Given the description of an element on the screen output the (x, y) to click on. 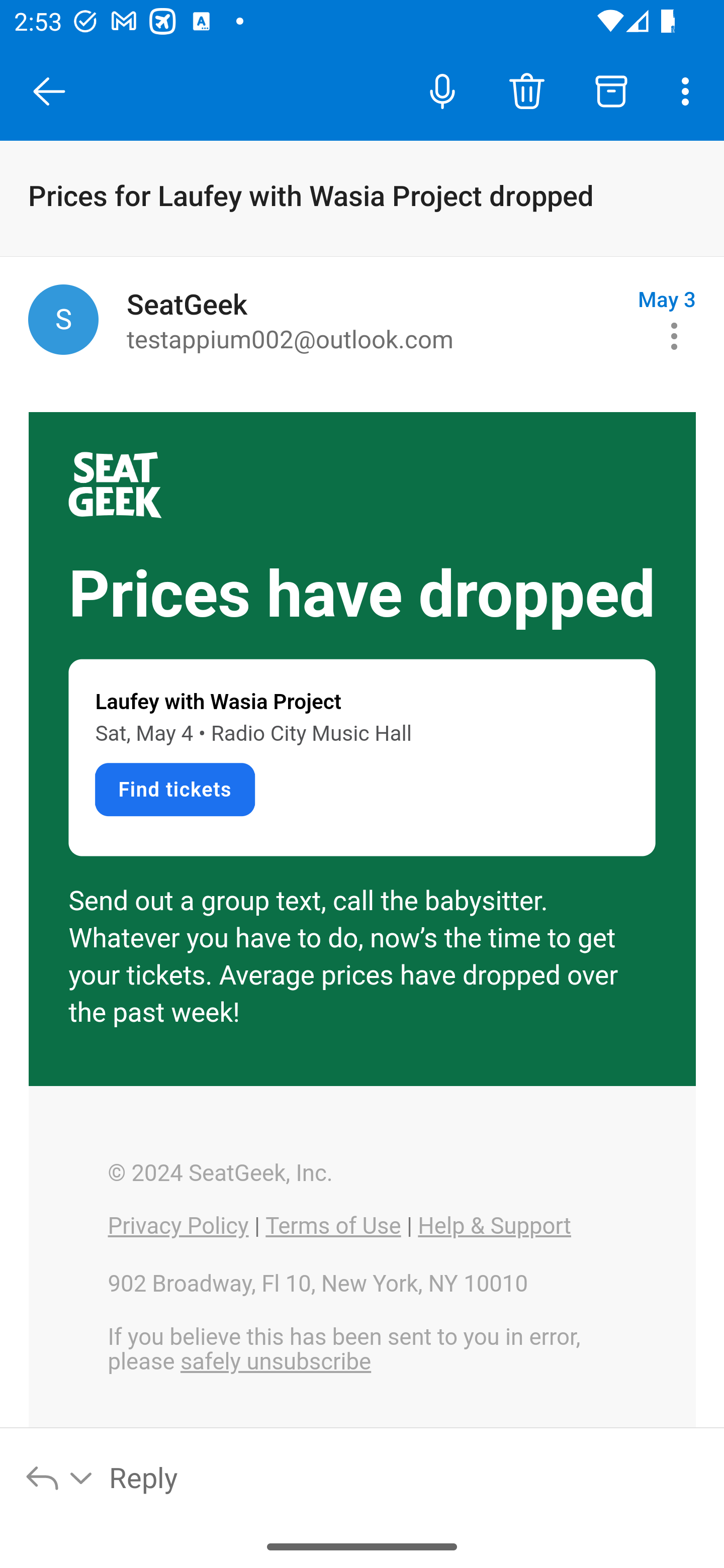
Close (49, 91)
Delete (526, 90)
Archive (611, 90)
More options (688, 90)
SeatGeek, events@seatgeek.com (63, 318)
SeatGeek
to testappium002@outlook.com (375, 319)
Message actions (674, 336)
Prices have dropped (361, 594)
Laufey with Wasia Project (218, 702)
Find tickets (174, 789)
Privacy Policy (178, 1226)
Terms of Use (332, 1226)
Help & Support (494, 1226)
902 Broadway, Fl 10, New York, NY 10010 (317, 1284)
safely unsubscribe (275, 1362)
Reply options (59, 1476)
